Given the description of an element on the screen output the (x, y) to click on. 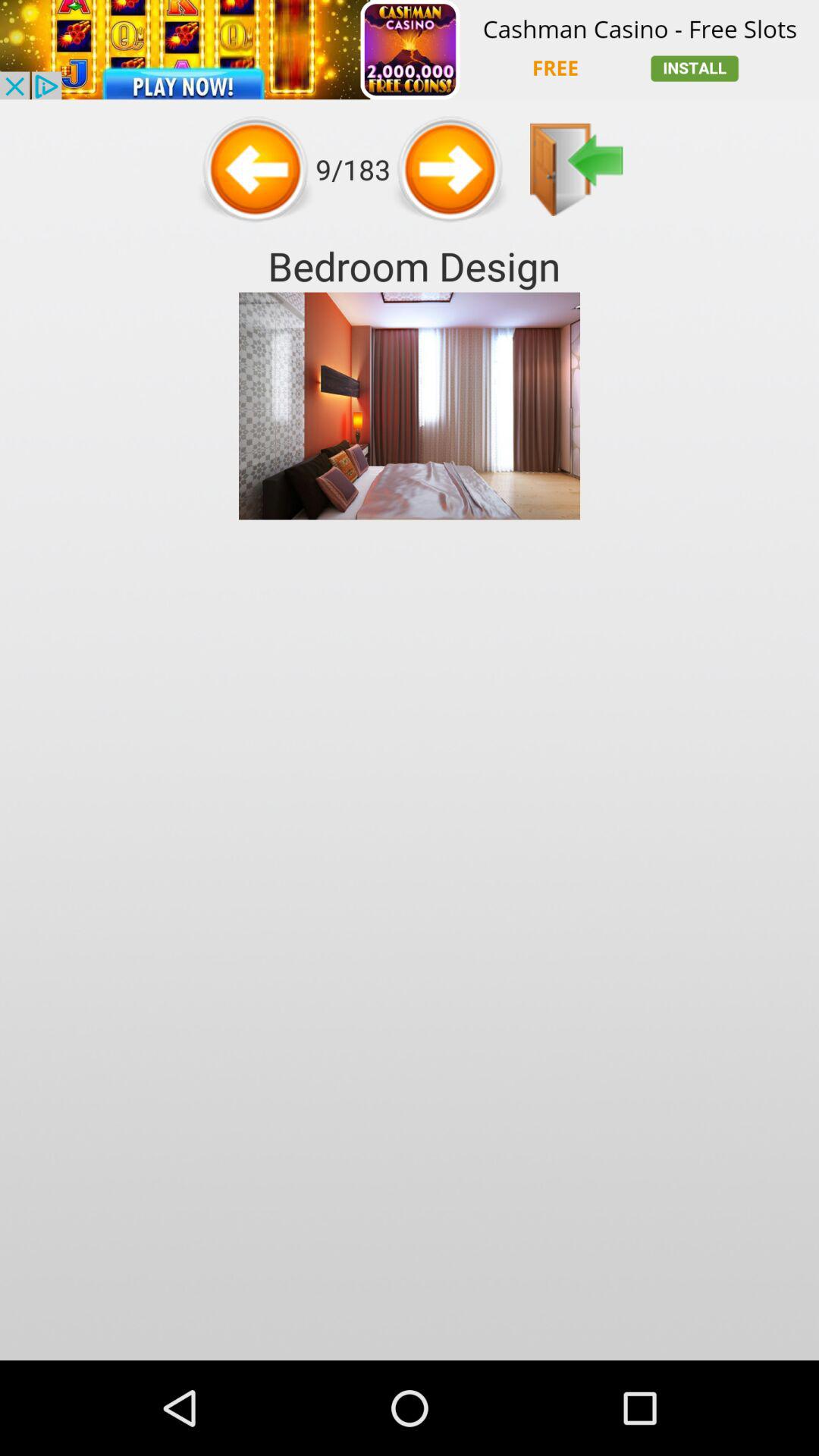
go to previous (576, 169)
